Given the description of an element on the screen output the (x, y) to click on. 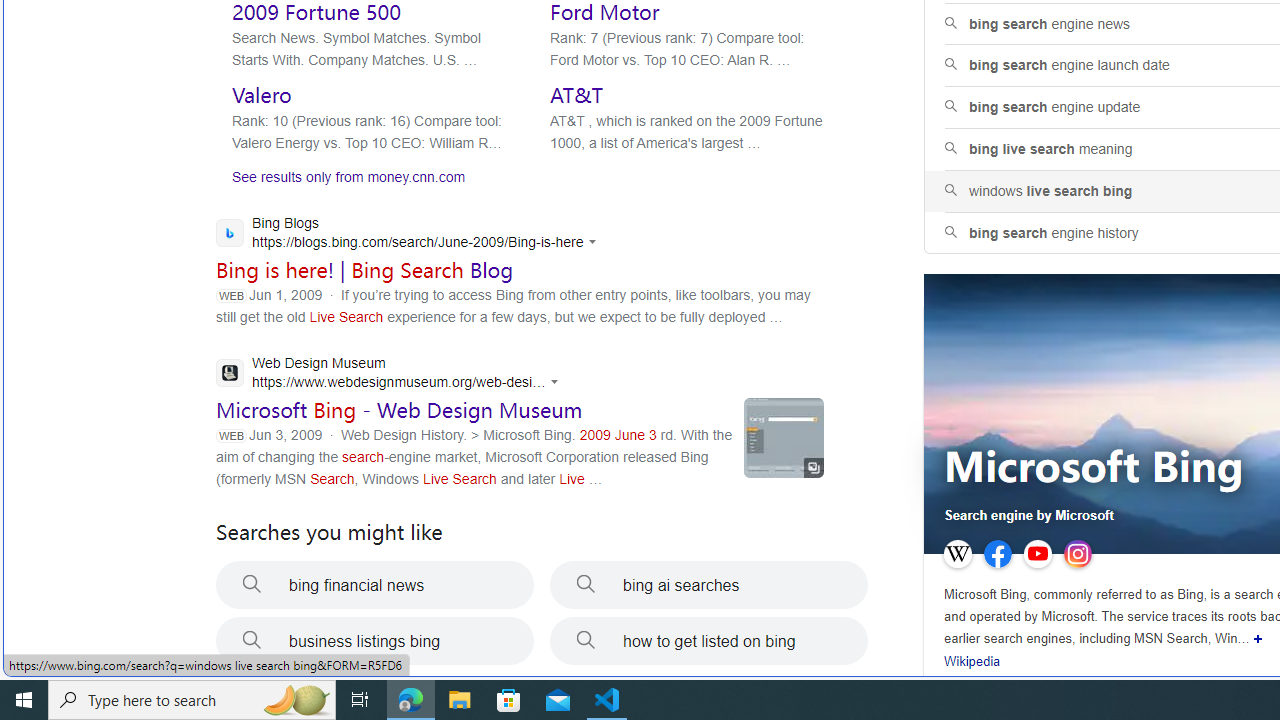
business listings bing (374, 641)
Instagram (1077, 554)
bing financial news (374, 584)
Microsoft Bing - Web Design Museum (399, 409)
bing financial news (374, 584)
Show more (1258, 638)
Facebook (998, 554)
how to get listed on bing (708, 641)
Actions for this site (557, 381)
business listings bing (374, 641)
Web Design Museum (392, 375)
Bing Blogs (411, 234)
bing ai searches (708, 584)
